Given the description of an element on the screen output the (x, y) to click on. 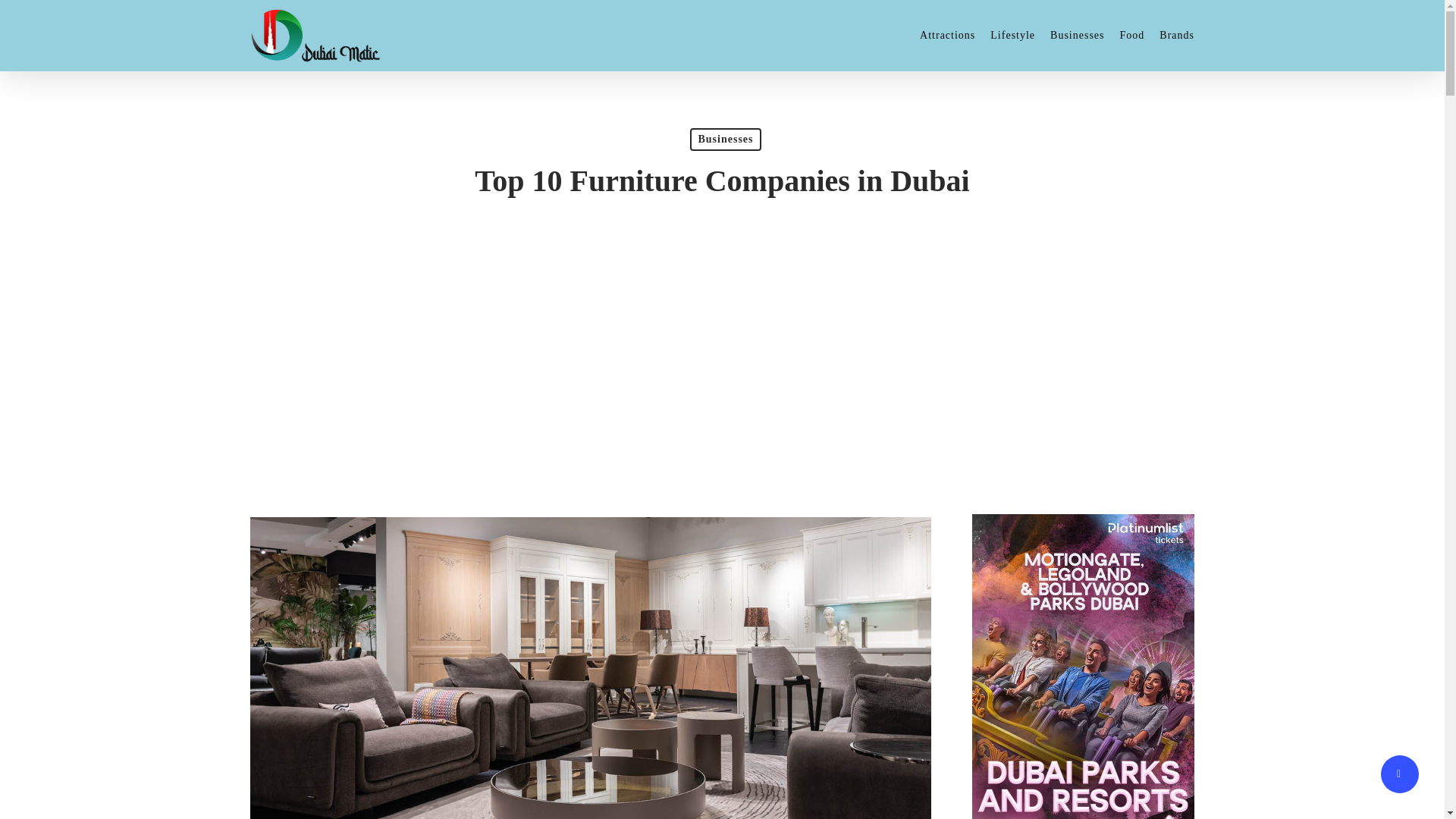
Brands (1175, 35)
Lifestyle (1012, 35)
Attractions (947, 35)
Food (1131, 35)
Businesses (1076, 35)
Businesses (725, 138)
